Given the description of an element on the screen output the (x, y) to click on. 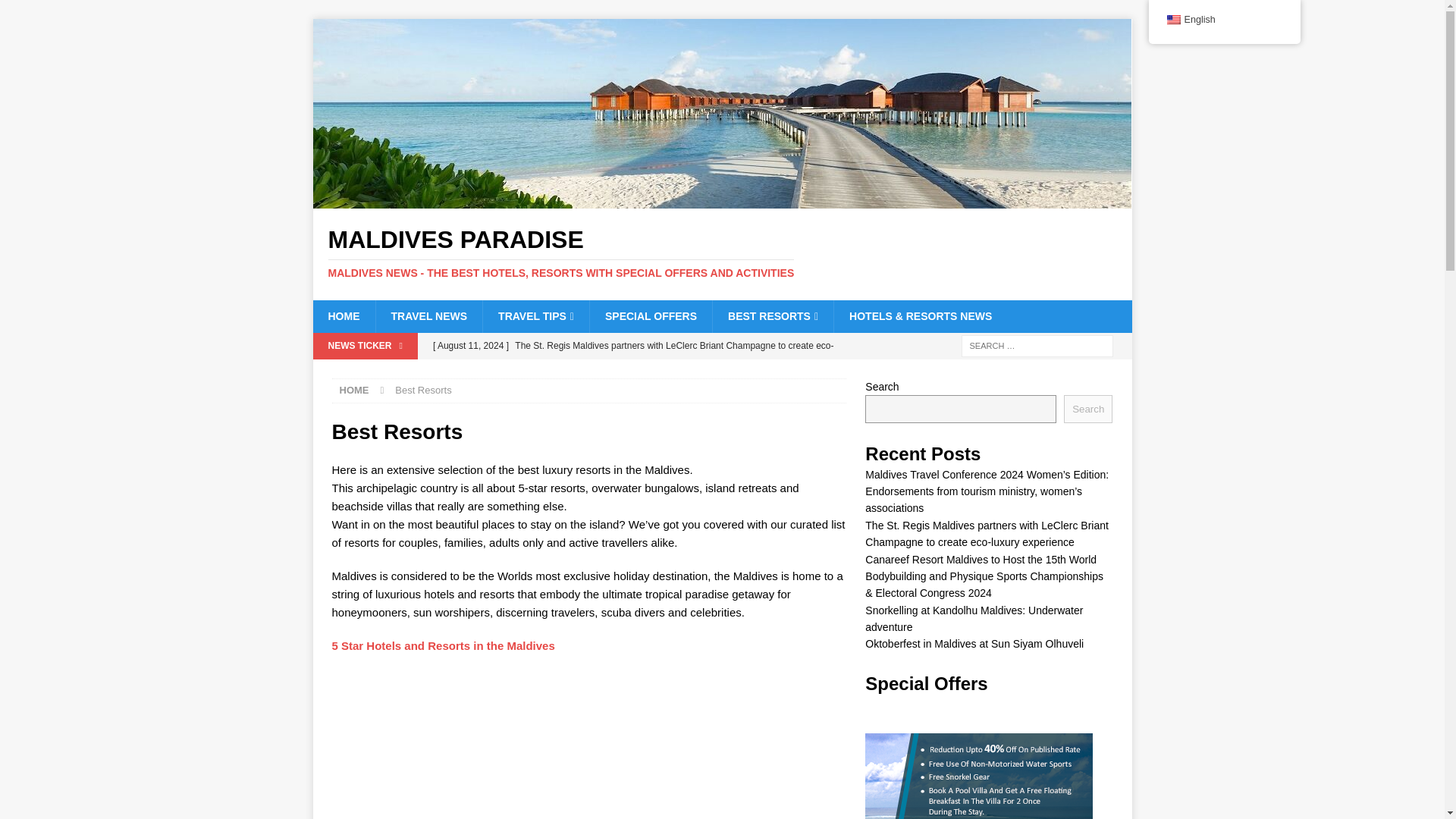
Maldives Paradise (721, 253)
HOME (343, 316)
TRAVEL NEWS (427, 316)
TRAVEL TIPS (535, 316)
Maldives Paradise (722, 200)
SPECIAL OFFERS (650, 316)
BEST RESORTS (771, 316)
